Given the description of an element on the screen output the (x, y) to click on. 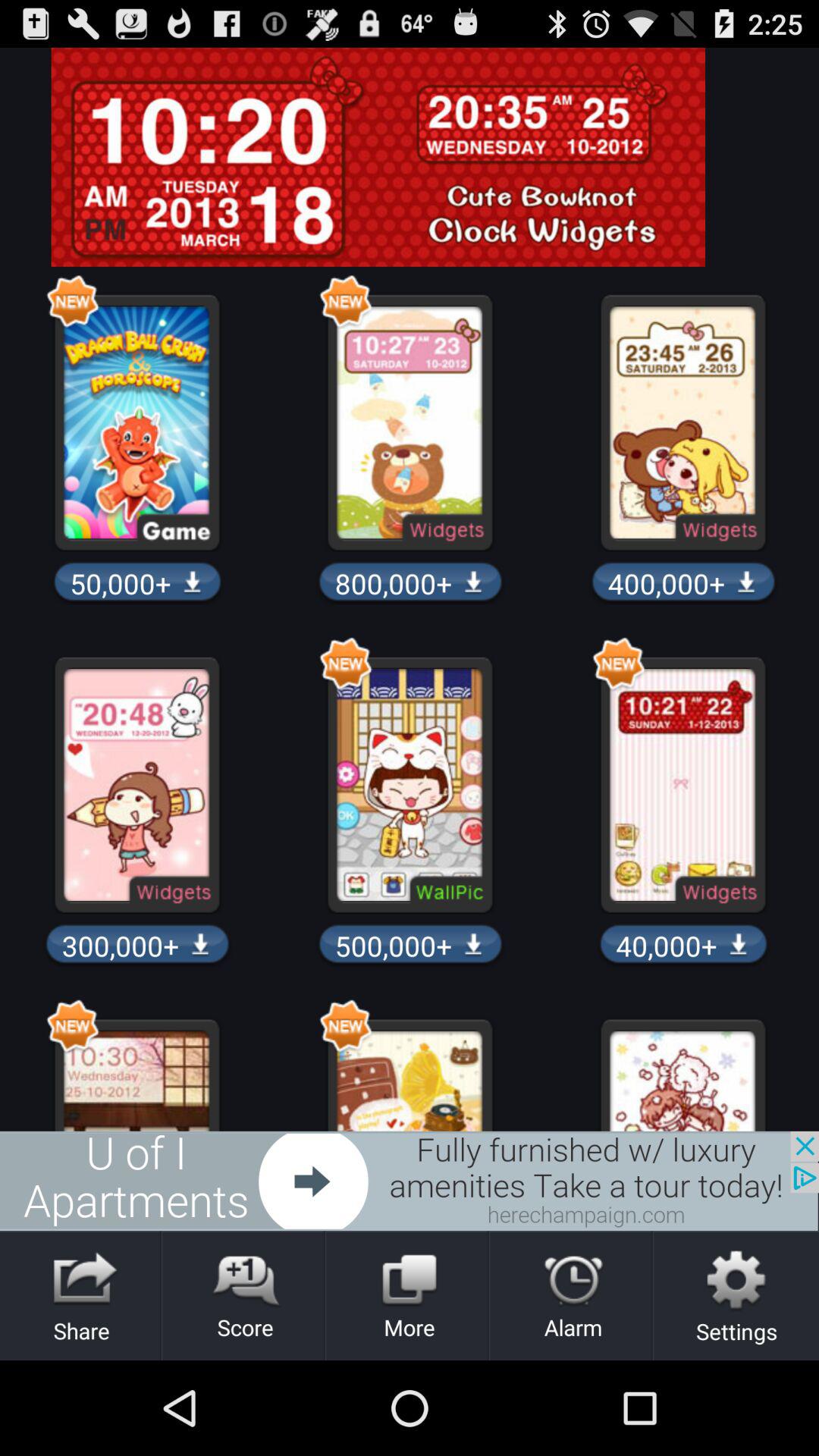
showing advertisements (409, 1180)
